Given the description of an element on the screen output the (x, y) to click on. 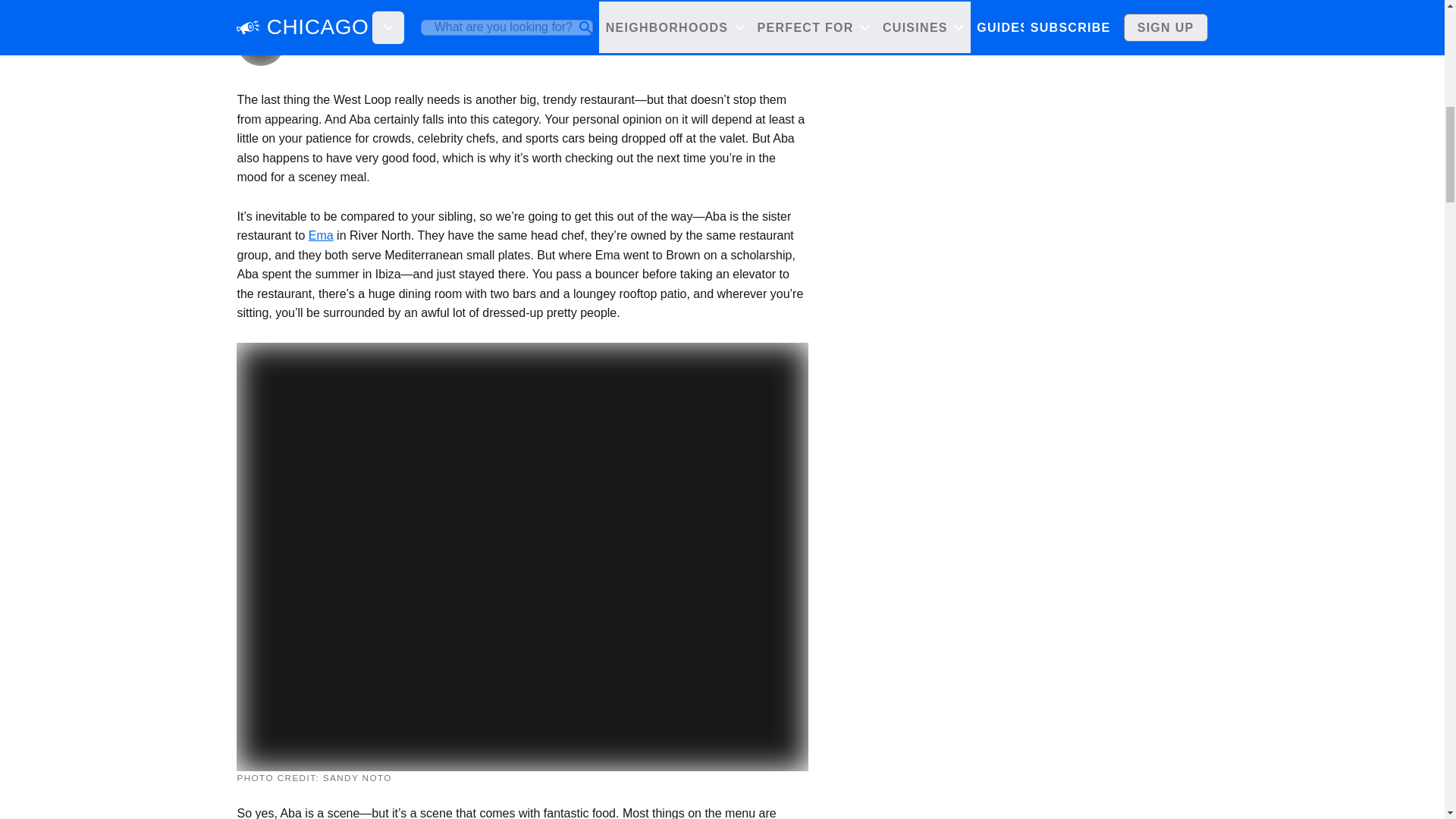
Ema (320, 235)
